Given the description of an element on the screen output the (x, y) to click on. 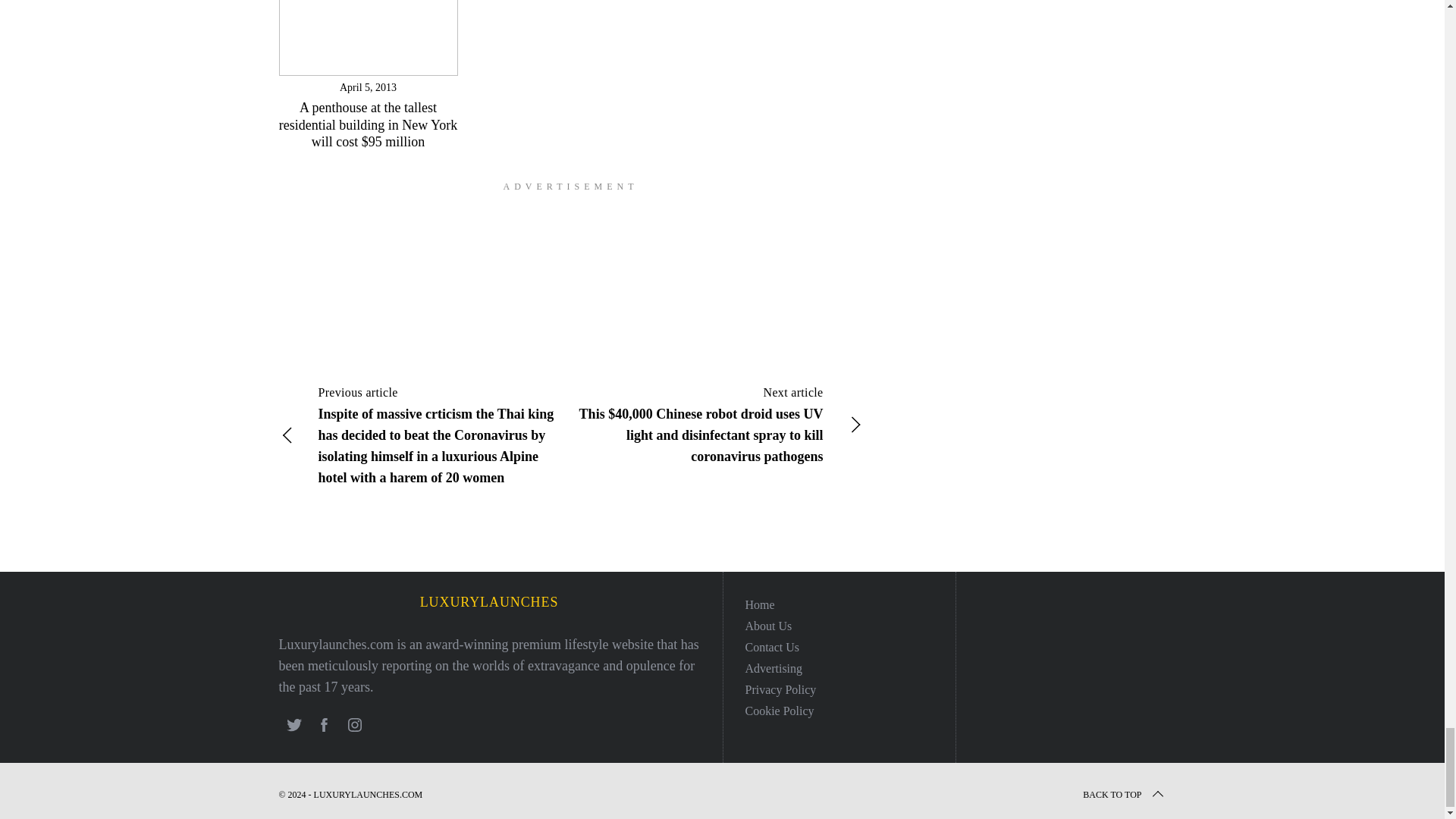
Advertising (773, 667)
Cookie Policy (778, 710)
About Us (768, 625)
Privacy Policy (779, 689)
Contact us (771, 646)
Home (759, 604)
